Given the description of an element on the screen output the (x, y) to click on. 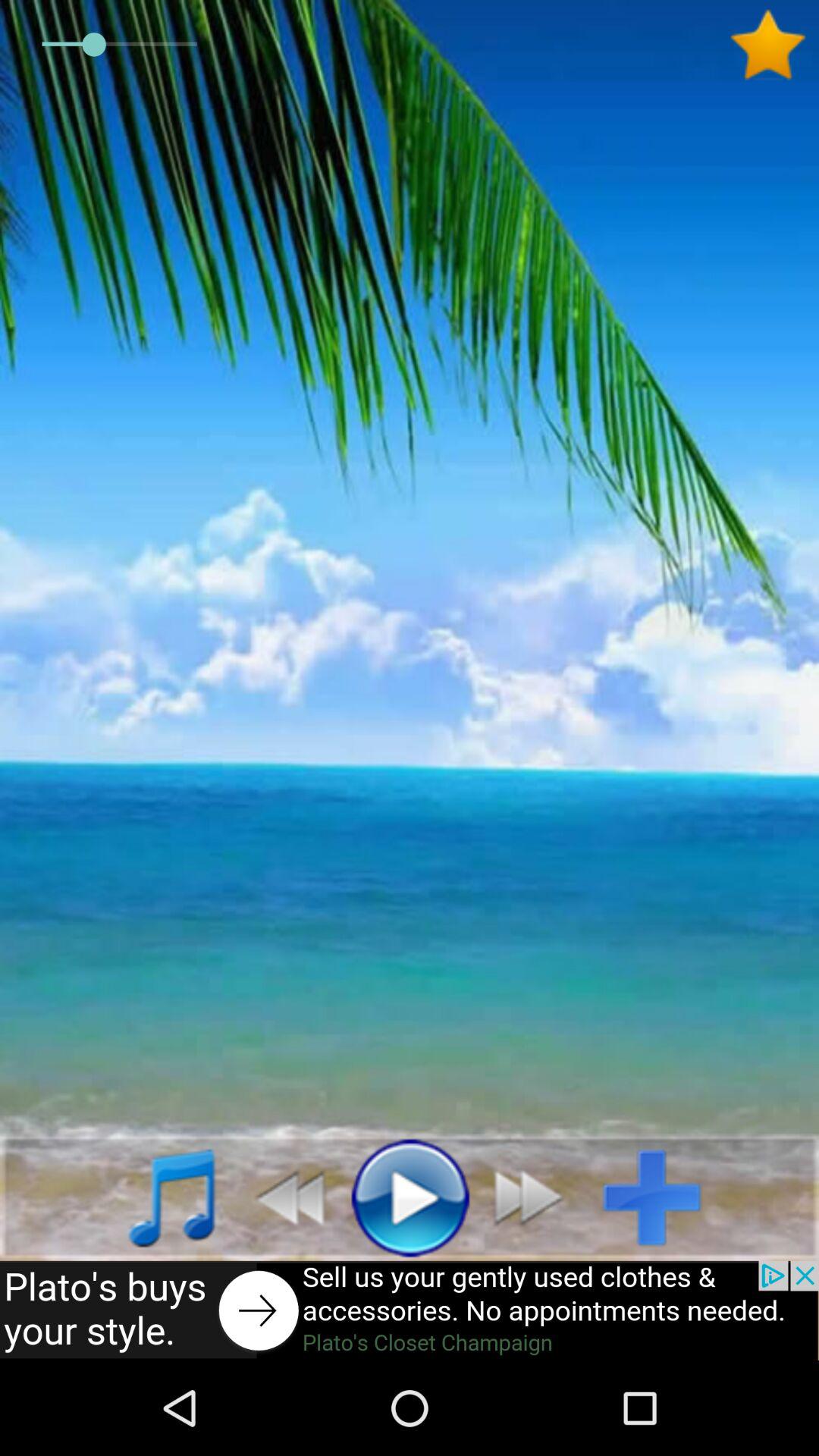
go to the advertisement (409, 1310)
